Given the description of an element on the screen output the (x, y) to click on. 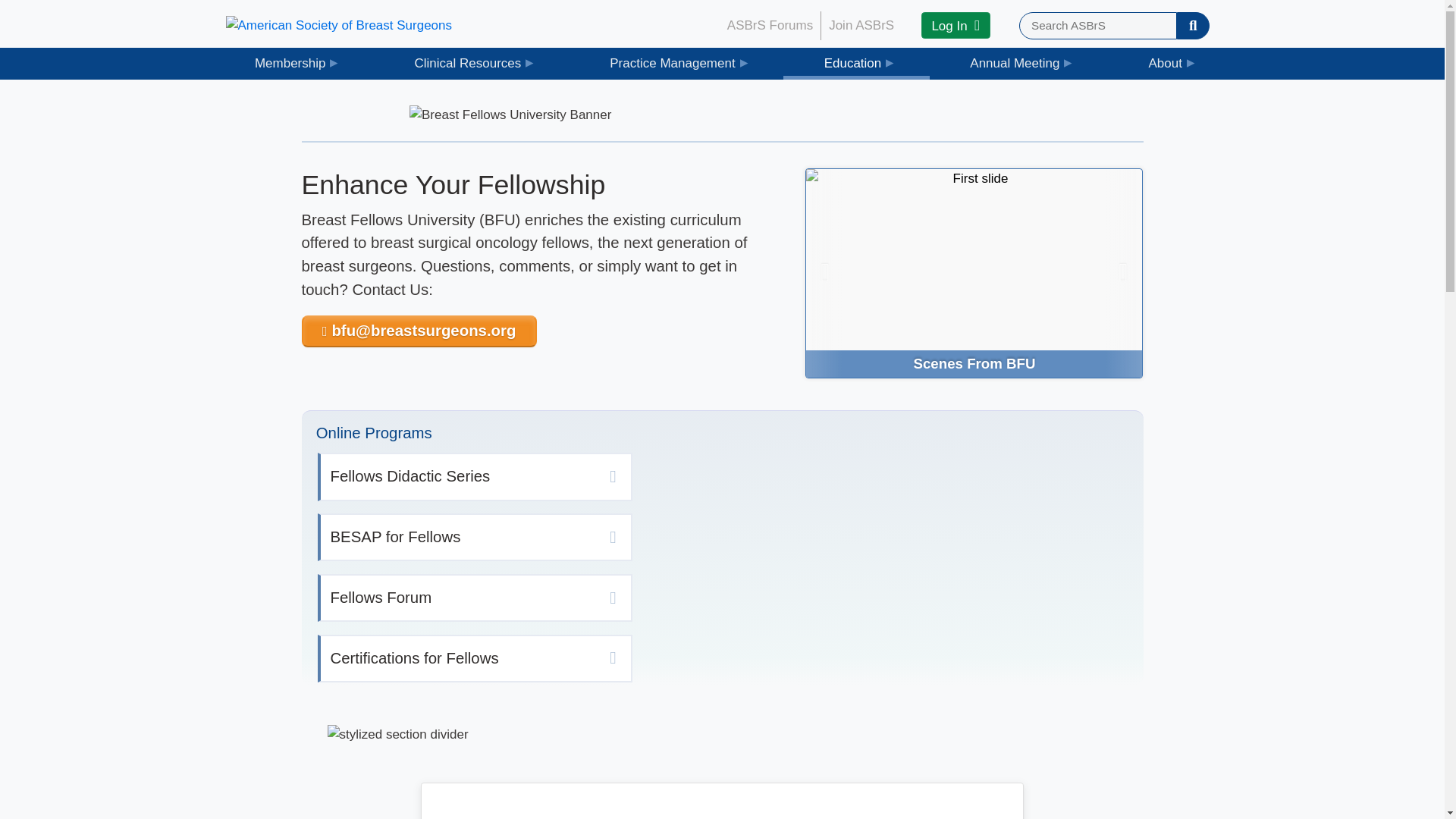
Search for: (1097, 25)
ASBrS Forums (770, 25)
Join ASBrS (861, 25)
Practice Management (676, 62)
Log In  (955, 25)
Membership (294, 62)
Clinical Resources (471, 62)
